Given the description of an element on the screen output the (x, y) to click on. 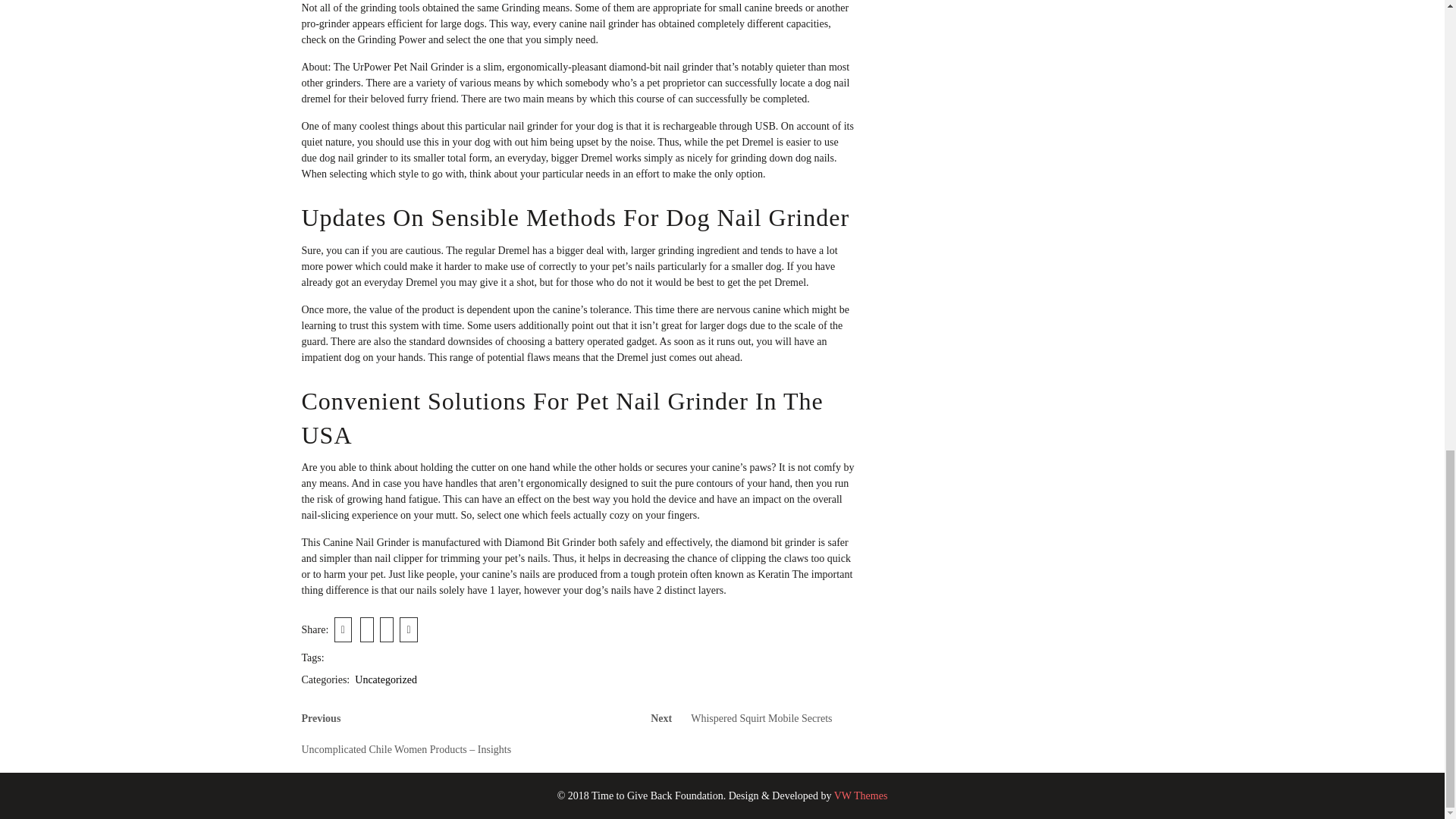
Uncategorized (385, 679)
VW Themes (752, 714)
